Given the description of an element on the screen output the (x, y) to click on. 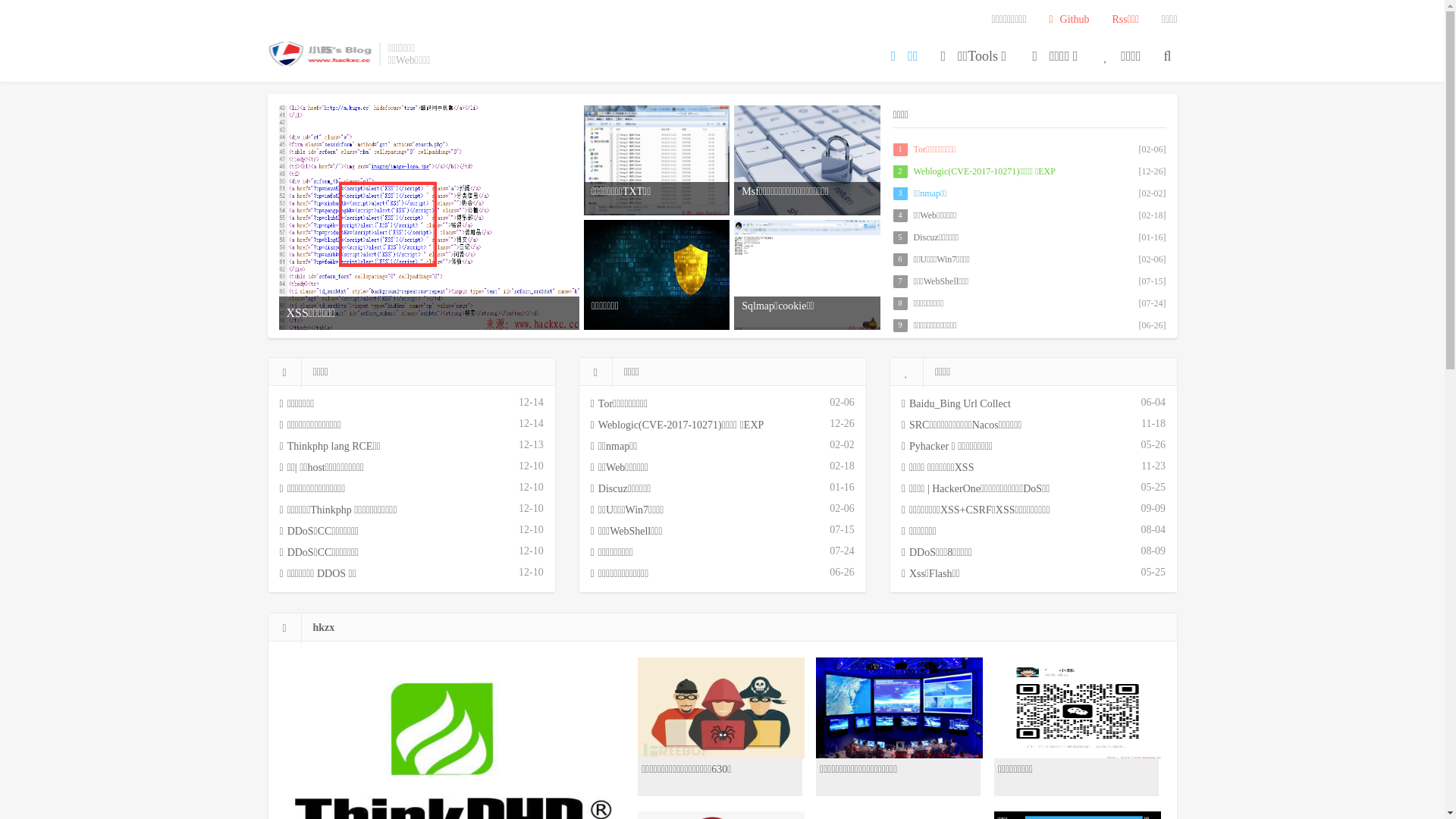
Github Element type: text (1069, 19)
Baidu_Bing Url Collect Element type: text (1004, 403)
